Given the description of an element on the screen output the (x, y) to click on. 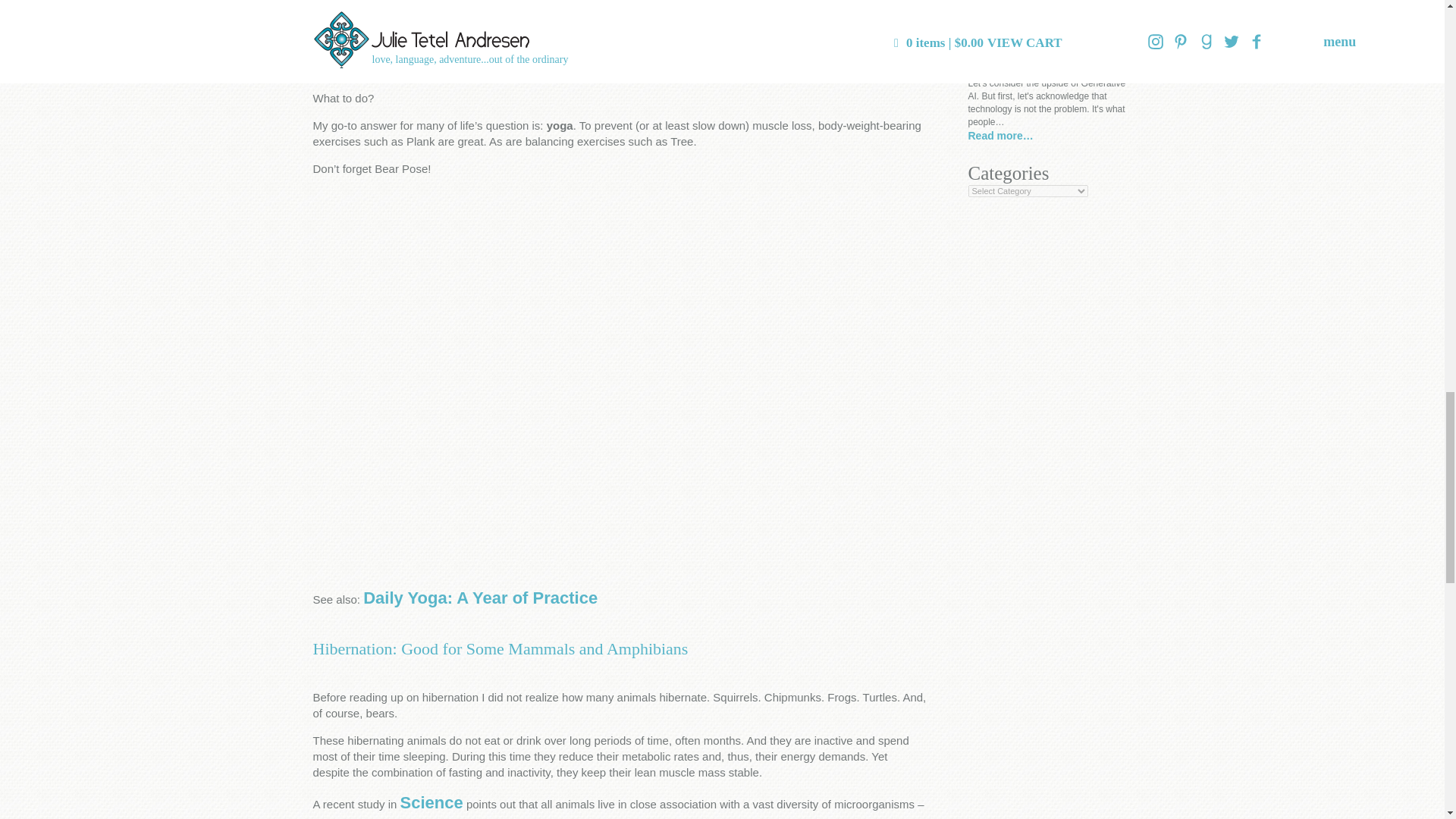
Daily Yoga: A Year of Practice (479, 597)
Science (431, 802)
